Given the description of an element on the screen output the (x, y) to click on. 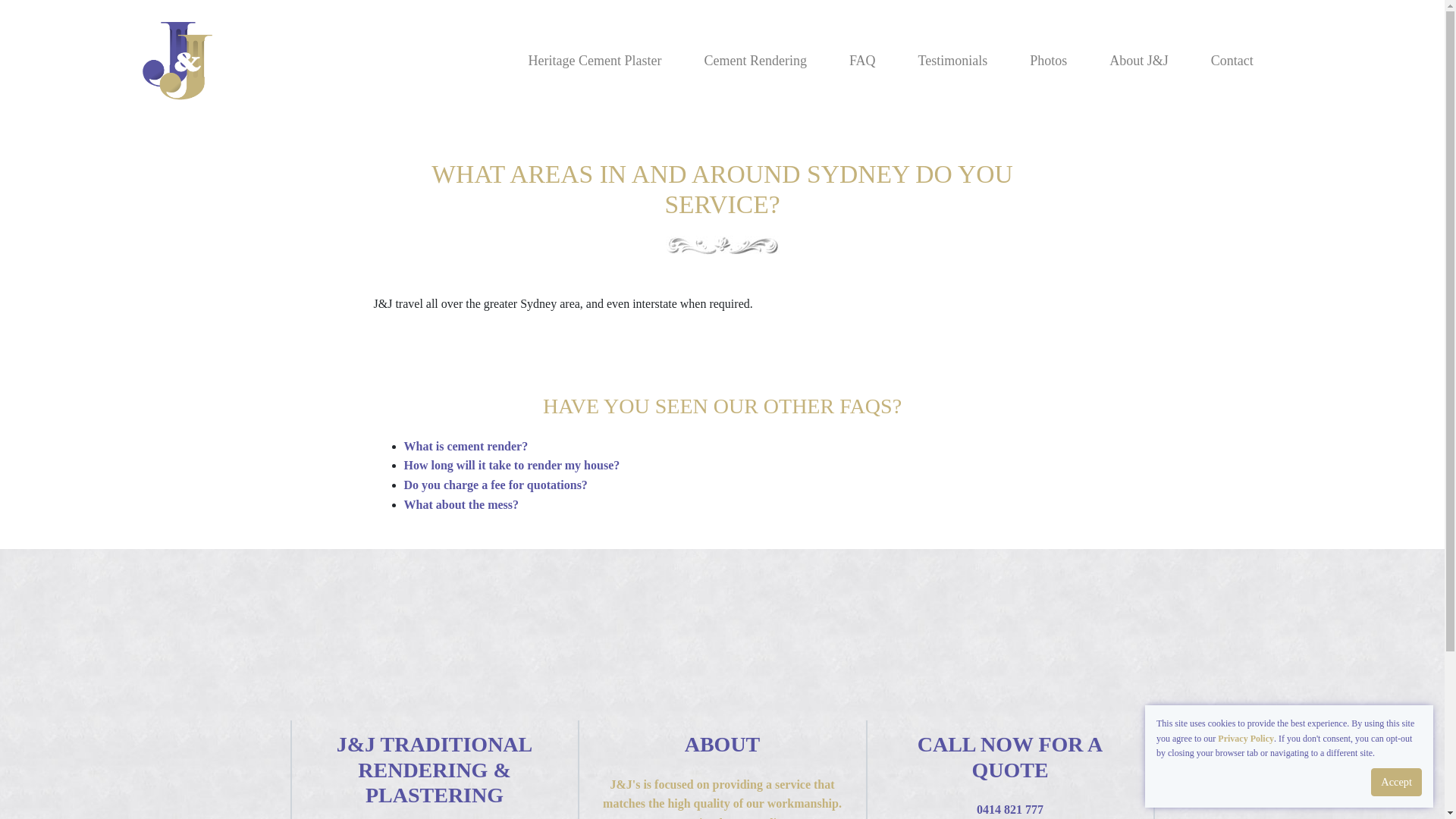
Testimonials Element type: text (953, 60)
Accept Element type: text (1396, 782)
What about the mess? Element type: text (460, 504)
FAQ Element type: text (862, 60)
Contact Element type: text (1231, 60)
How long will it take to render my house? Element type: text (511, 464)
Do you charge a fee for quotations? Element type: text (494, 484)
Privacy Policy Element type: text (1245, 738)
What is cement render? Element type: text (465, 445)
About J&J Element type: text (1138, 60)
Photos Element type: text (1048, 60)
0414 821 777 Element type: text (1009, 809)
Cement Rendering Element type: text (754, 60)
Heritage Cement Plaster Element type: text (594, 60)
J&J Traditional Rendering & Plastering Element type: hover (181, 60)
